Given the description of an element on the screen output the (x, y) to click on. 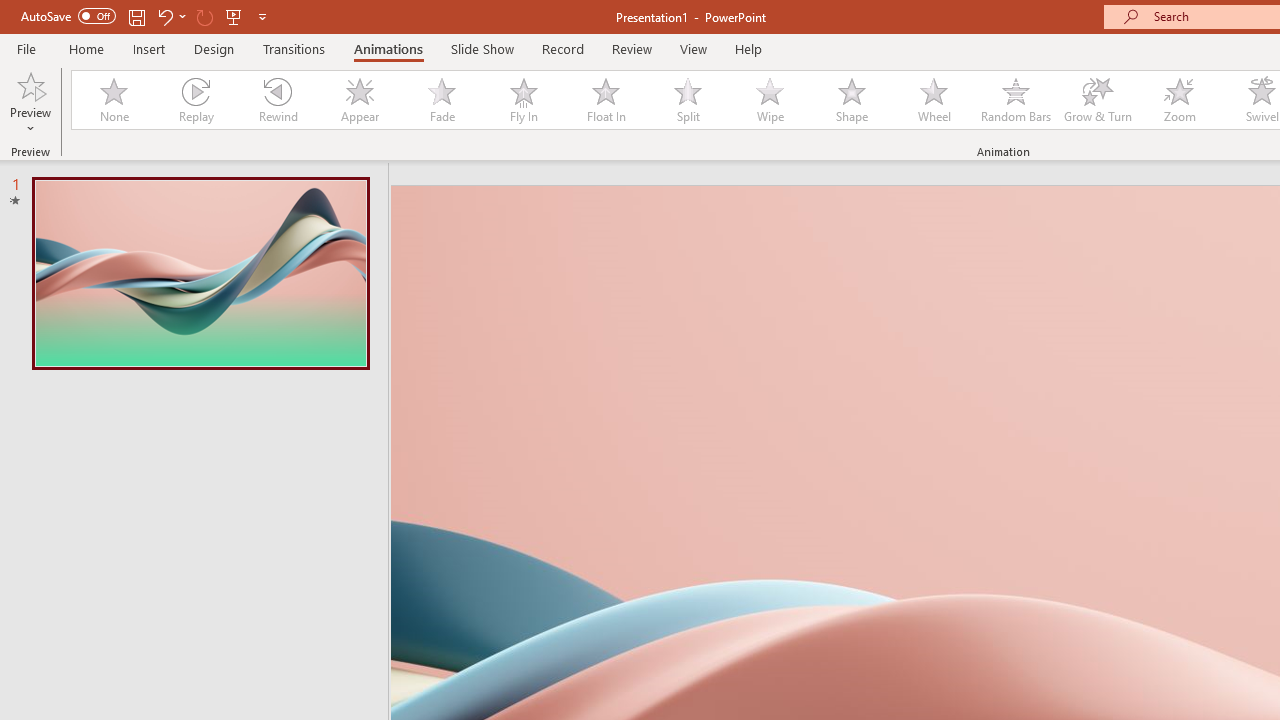
Grow & Turn (1098, 100)
Fly In (523, 100)
None (113, 100)
Split (687, 100)
Fade (441, 100)
Shape (852, 100)
Wipe (770, 100)
